Given the description of an element on the screen output the (x, y) to click on. 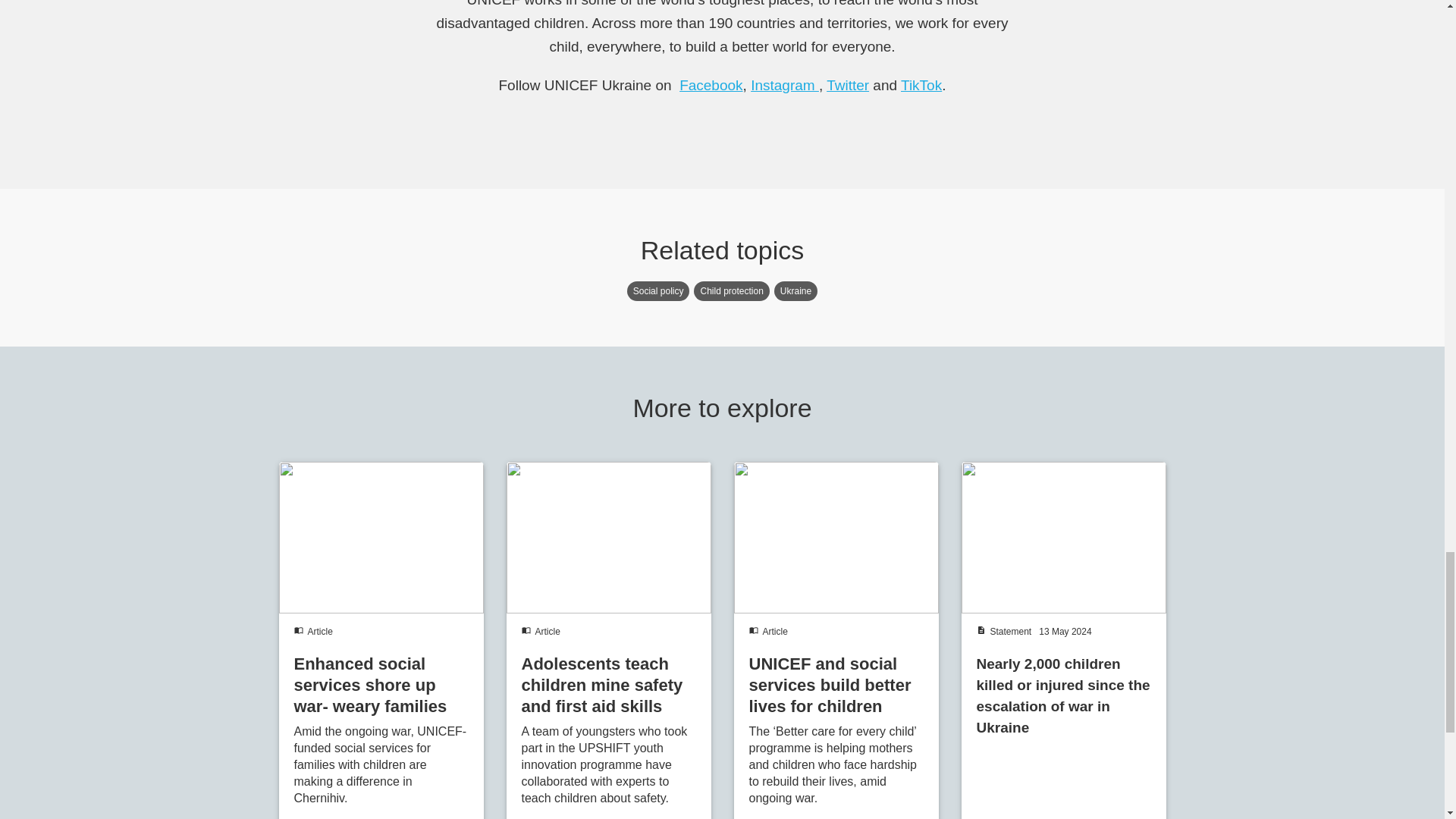
Facebook (710, 84)
TikTok (921, 84)
Child protection (731, 291)
Social policy (658, 291)
Twitter (848, 84)
Ukraine (795, 291)
Instagram  (784, 84)
